Given the description of an element on the screen output the (x, y) to click on. 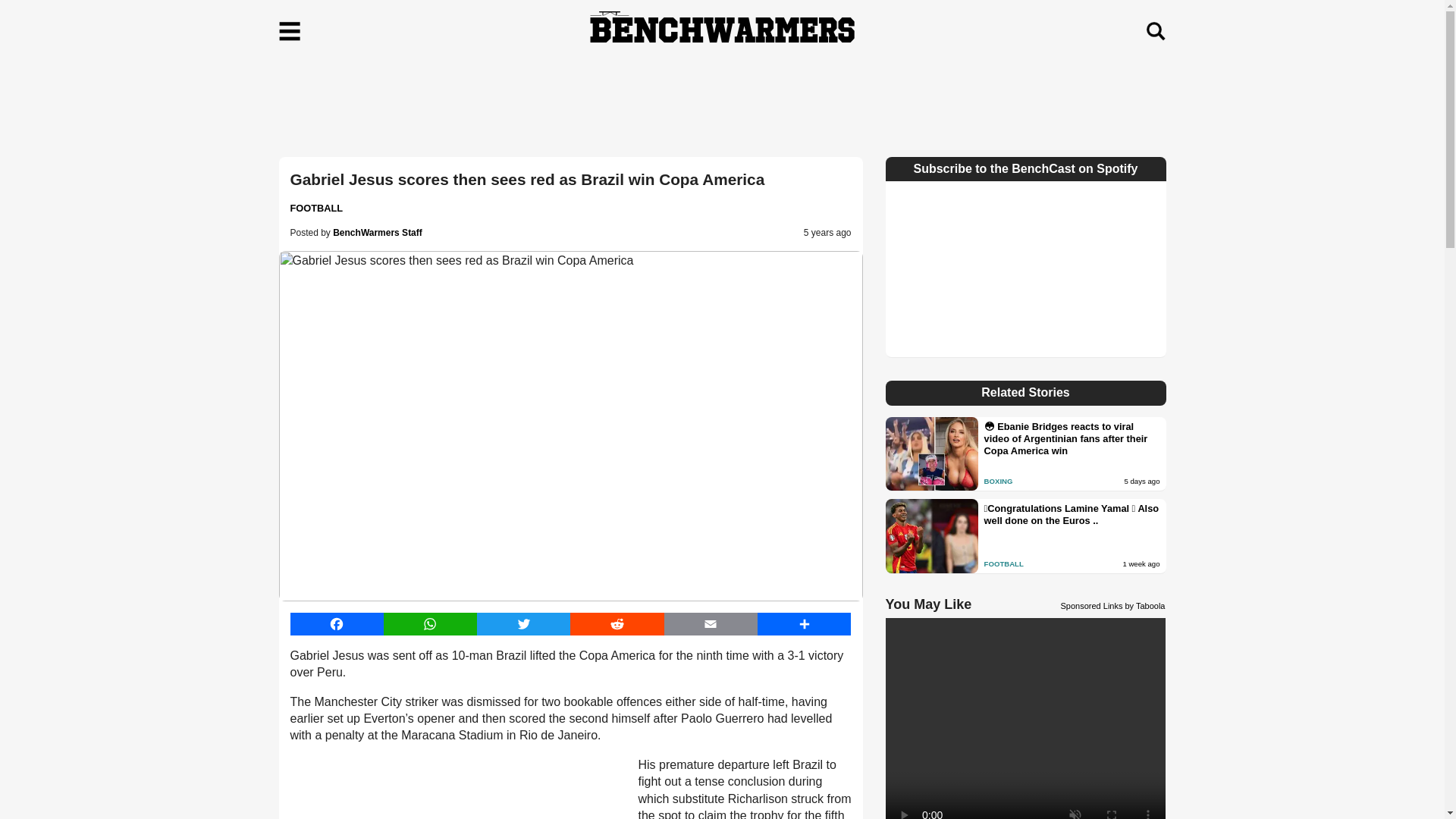
Latest Football News (315, 207)
Email (710, 623)
Search (1155, 30)
FOOTBALL (315, 207)
Menu (289, 30)
View more articles by BenchWarmers Staff (377, 232)
Share (803, 623)
BenchWarmers Staff (377, 232)
WhatsApp (430, 623)
Twitter (523, 623)
Facebook (335, 623)
Facebook (335, 623)
WhatsApp (430, 623)
Reddit (616, 623)
